Given the description of an element on the screen output the (x, y) to click on. 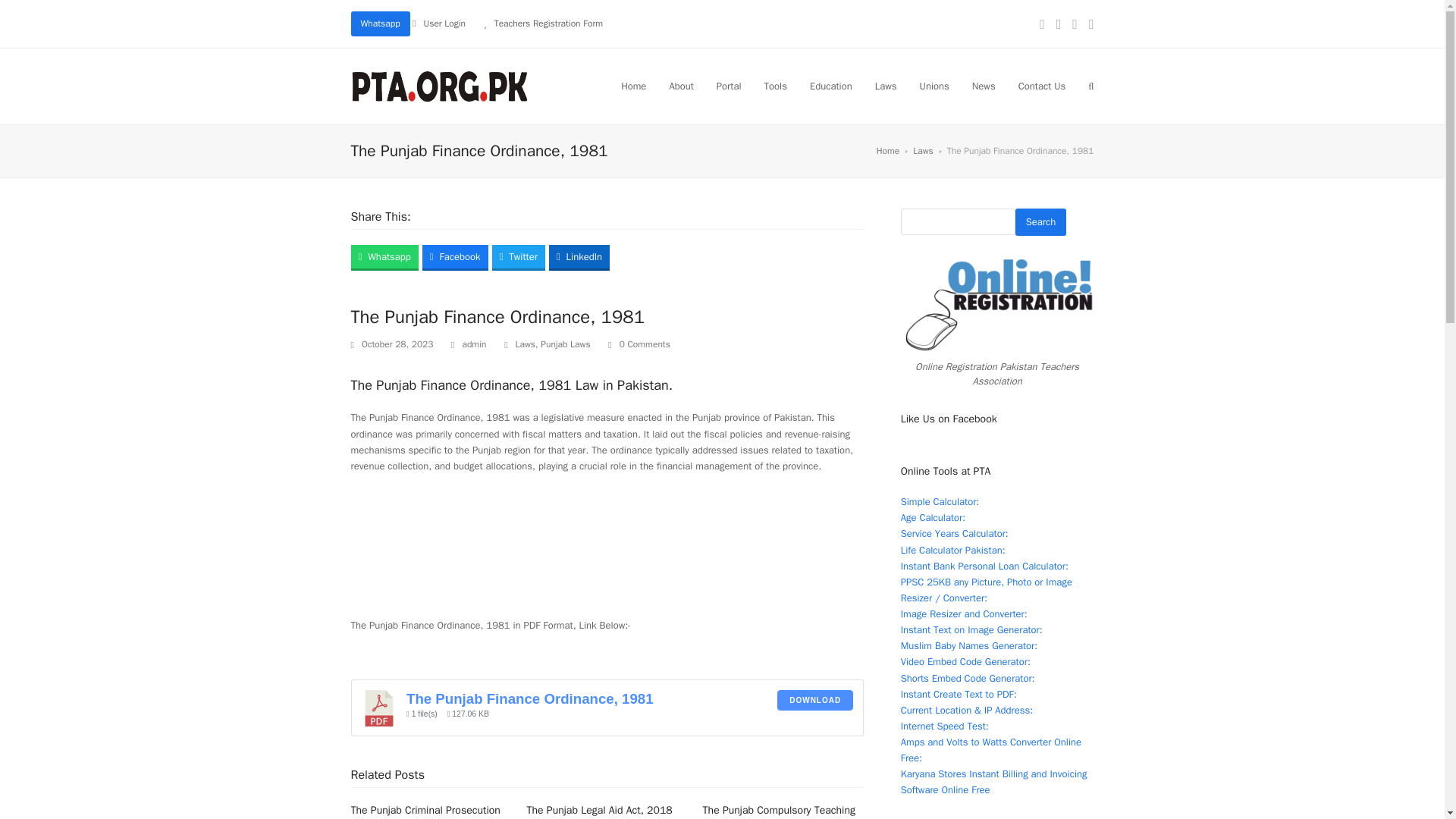
Teachers Registration Form (548, 23)
0 Comments (638, 344)
Whatsapp (379, 23)
The Punjab Finance Ordinance, 1981 1 (379, 708)
Posts by admin (473, 344)
Advertisement (606, 552)
User Login (444, 23)
